Given the description of an element on the screen output the (x, y) to click on. 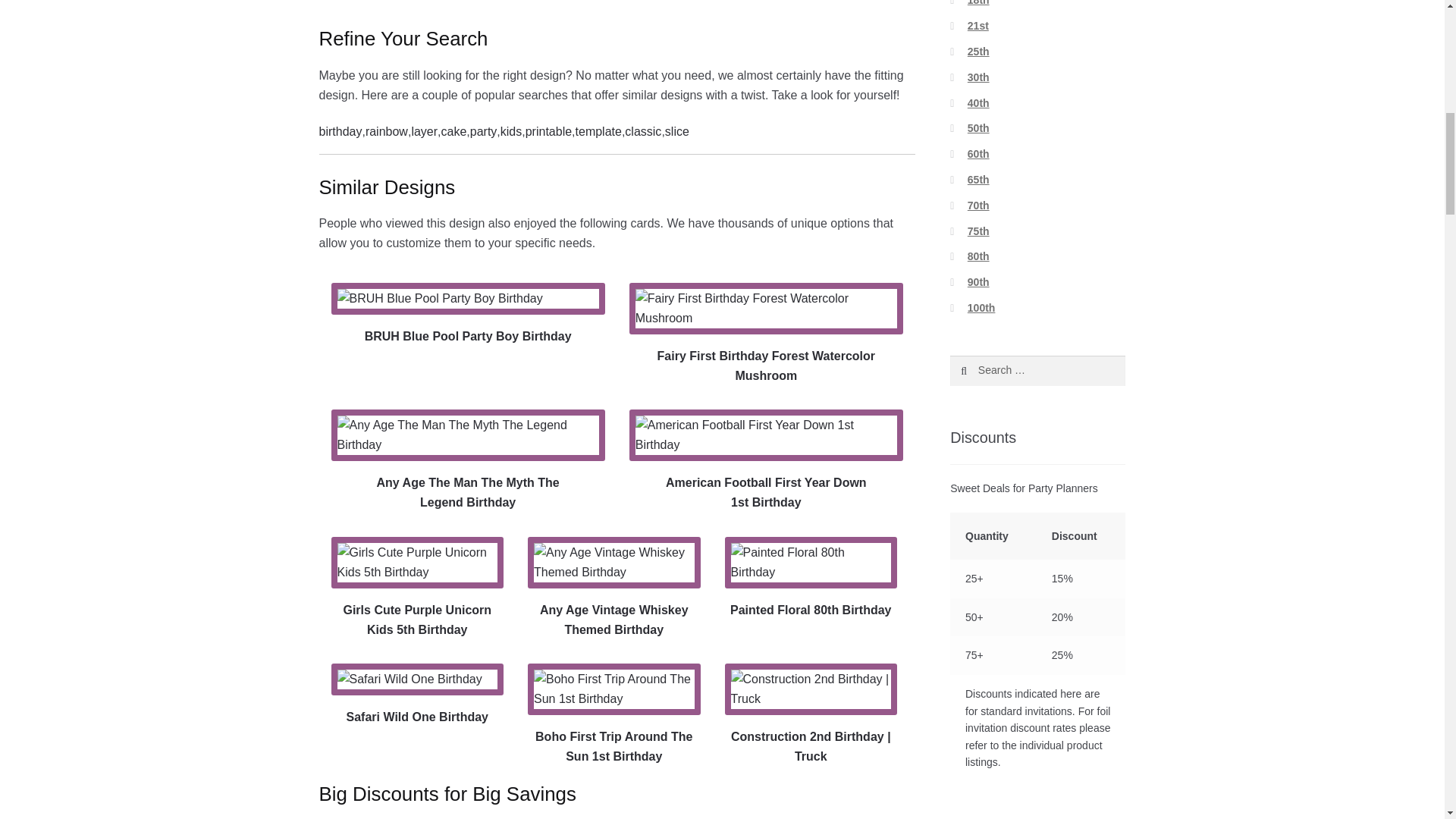
birthday (340, 131)
Painted Floral 80th Birthday (811, 578)
Girls Cute Purple Unicorn Kids 5th Birthday (417, 588)
Any Age The Man The Myth The Legend Birthday (468, 460)
classic (642, 131)
American Football First Year Down 1st Birthday (765, 460)
kids (510, 131)
Safari Wild One Birthday (417, 695)
cake (454, 131)
template (598, 131)
slice (676, 131)
Search (982, 370)
Any Age Vintage Whiskey Themed Birthday (613, 588)
layer (424, 131)
printable (548, 131)
